Given the description of an element on the screen output the (x, y) to click on. 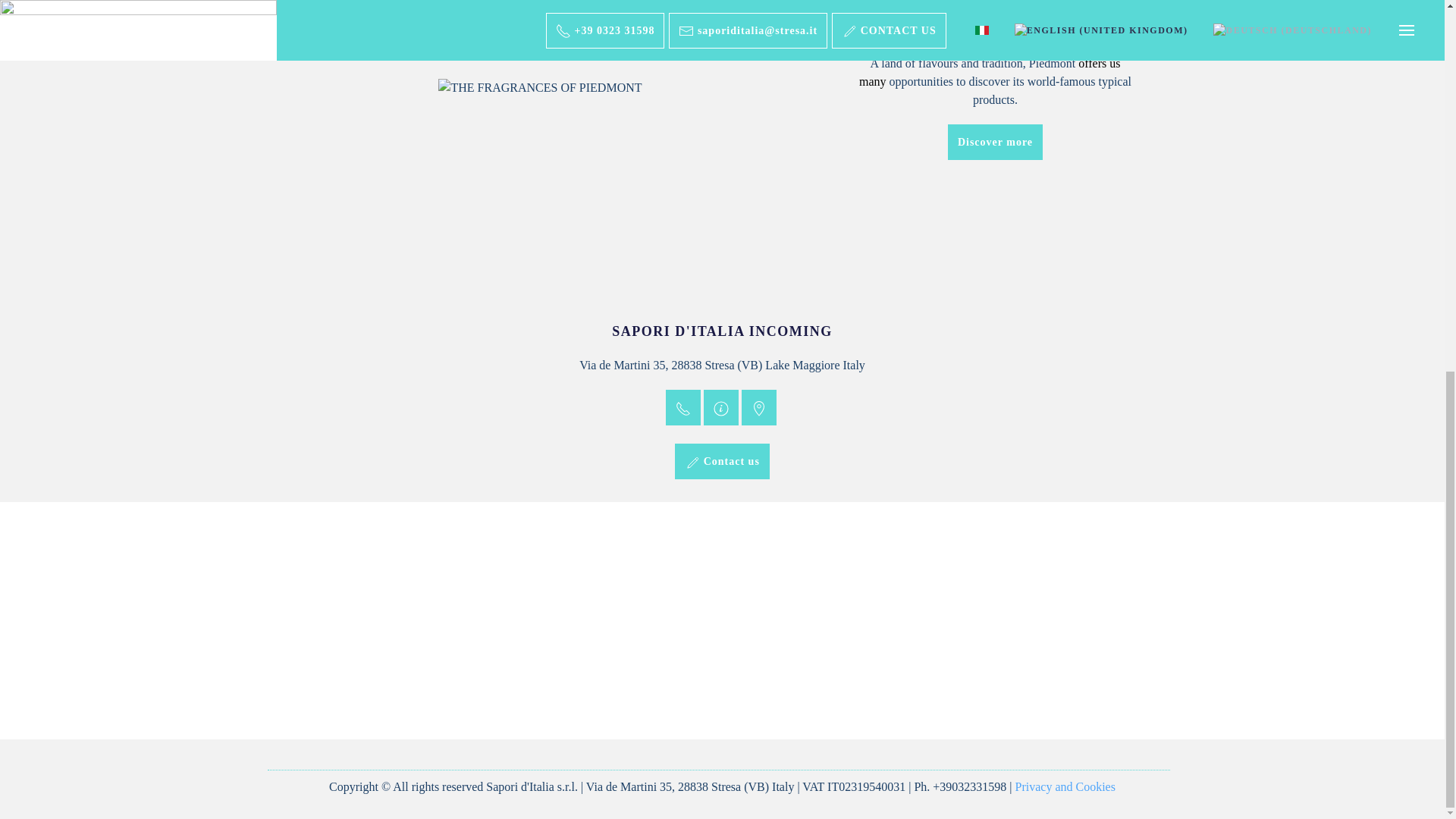
Chiama (682, 407)
Scrivici un'email (720, 407)
Road map (758, 407)
Contact us (722, 461)
